Given the description of an element on the screen output the (x, y) to click on. 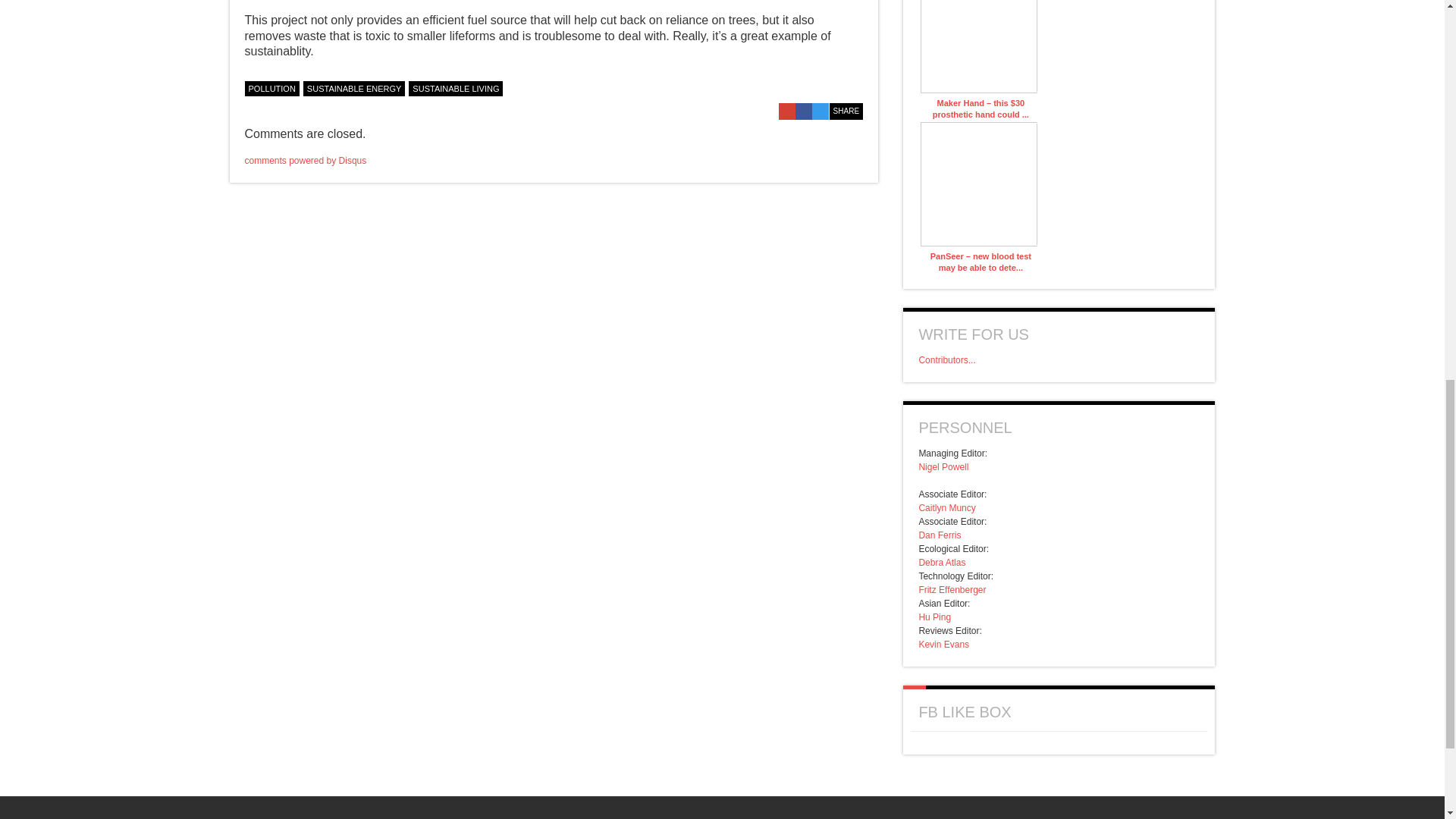
SUSTAINABLE ENERGY (354, 88)
Fritz Effenberger (951, 589)
Debra Atlas (941, 562)
comments powered by Disqus (305, 160)
POLLUTION (271, 88)
SUSTAINABLE LIVING (455, 88)
Kevin Evans (943, 644)
SHARE (846, 111)
Caitlyn Muncy (946, 507)
Contributors... (946, 359)
Nigel Powell (943, 466)
I like this article (855, 86)
Hu Ping (934, 616)
Dan Ferris (939, 534)
